Given the description of an element on the screen output the (x, y) to click on. 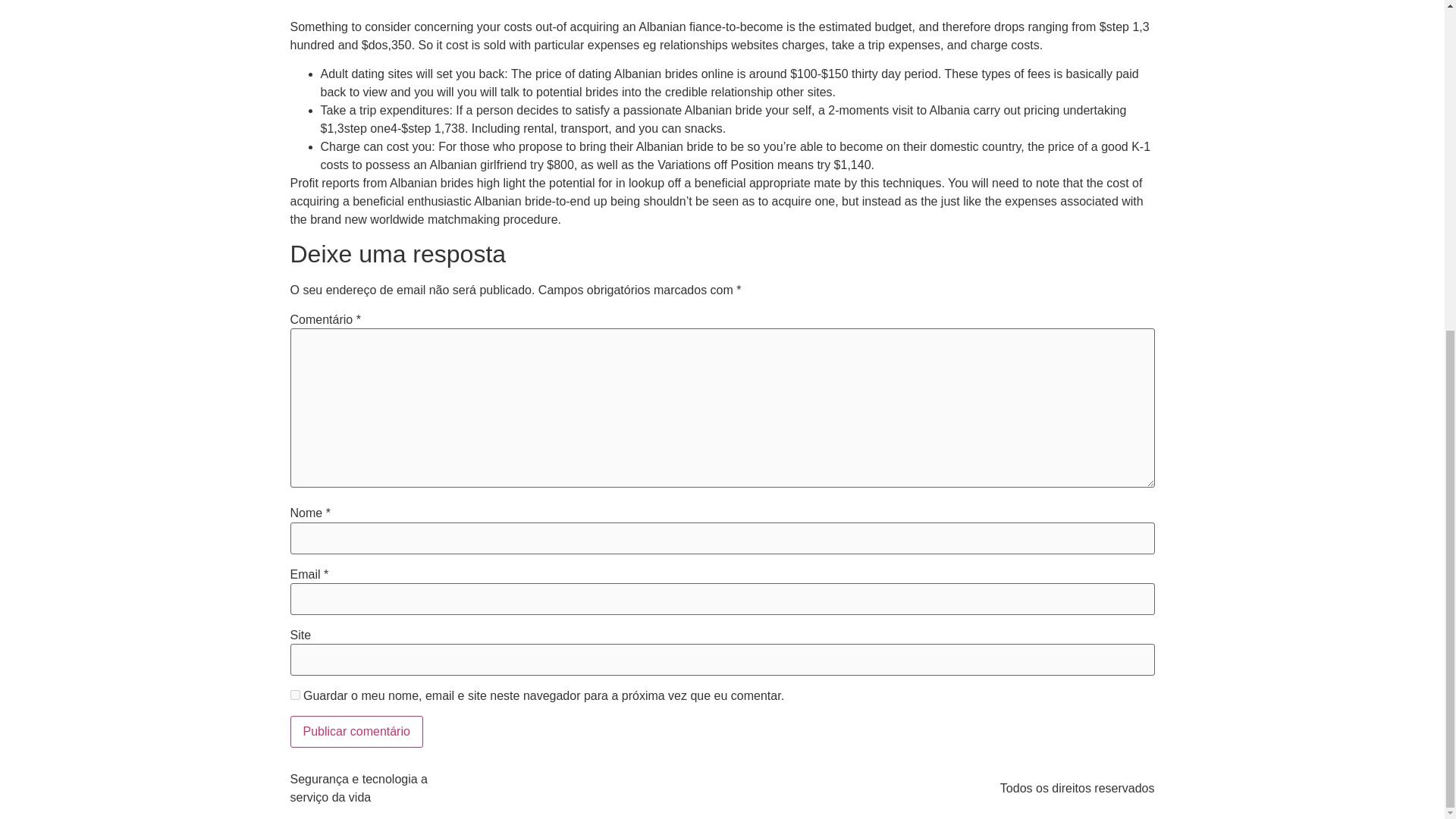
yes (294, 695)
